Given the description of an element on the screen output the (x, y) to click on. 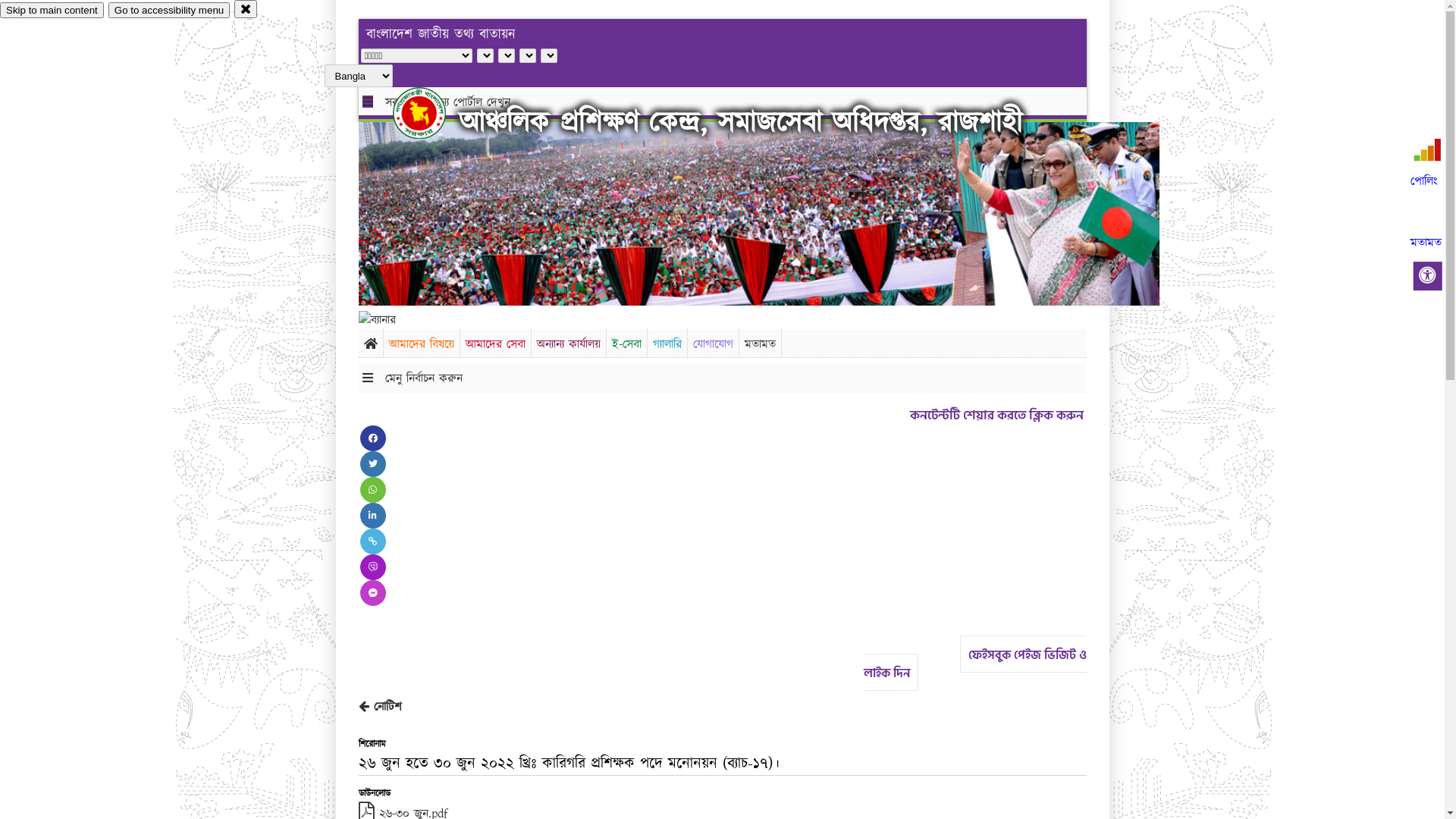
close Element type: hover (245, 9)
Skip to main content Element type: text (51, 10)

                
             Element type: hover (431, 112)
Go to accessibility menu Element type: text (168, 10)
